Given the description of an element on the screen output the (x, y) to click on. 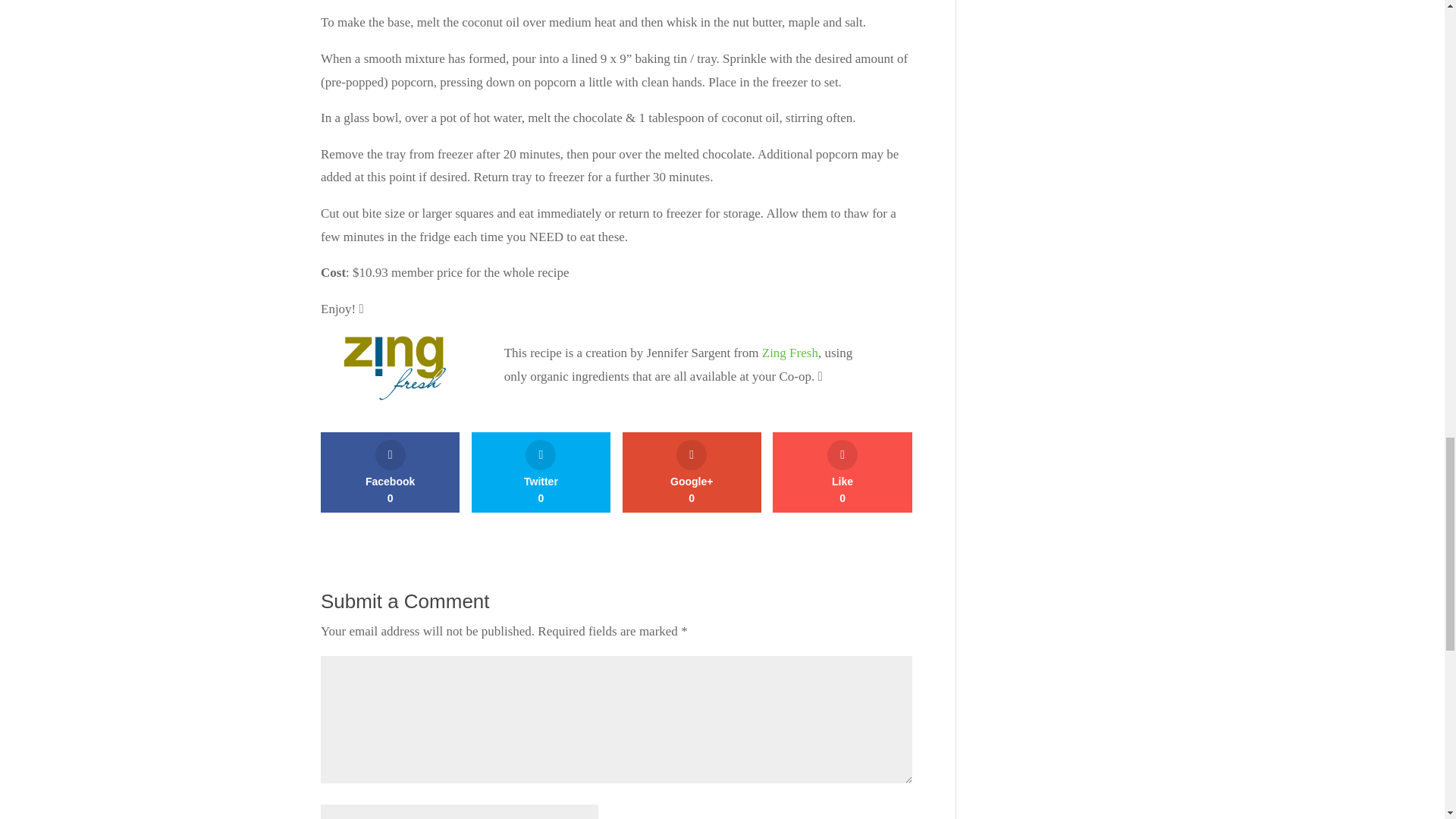
Zing Fresh (540, 472)
